Given the description of an element on the screen output the (x, y) to click on. 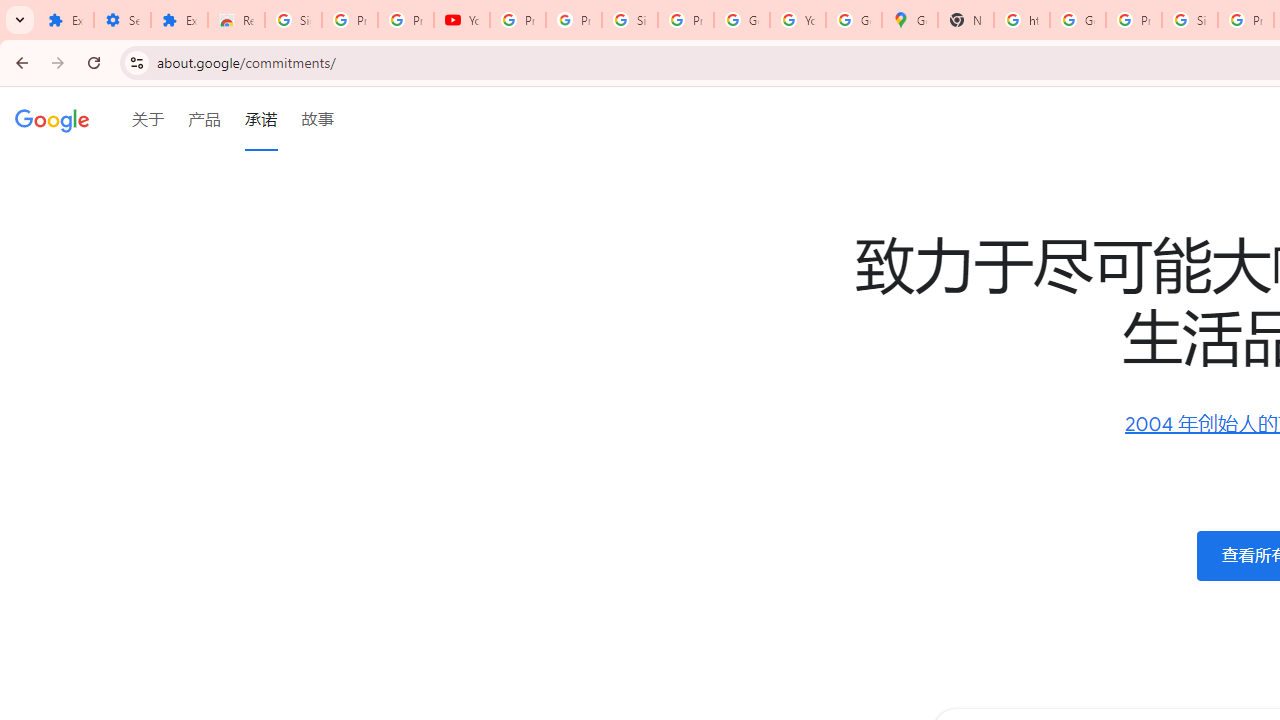
Extensions (179, 20)
YouTube (797, 20)
Sign in - Google Accounts (1190, 20)
https://scholar.google.com/ (1021, 20)
